Given the description of an element on the screen output the (x, y) to click on. 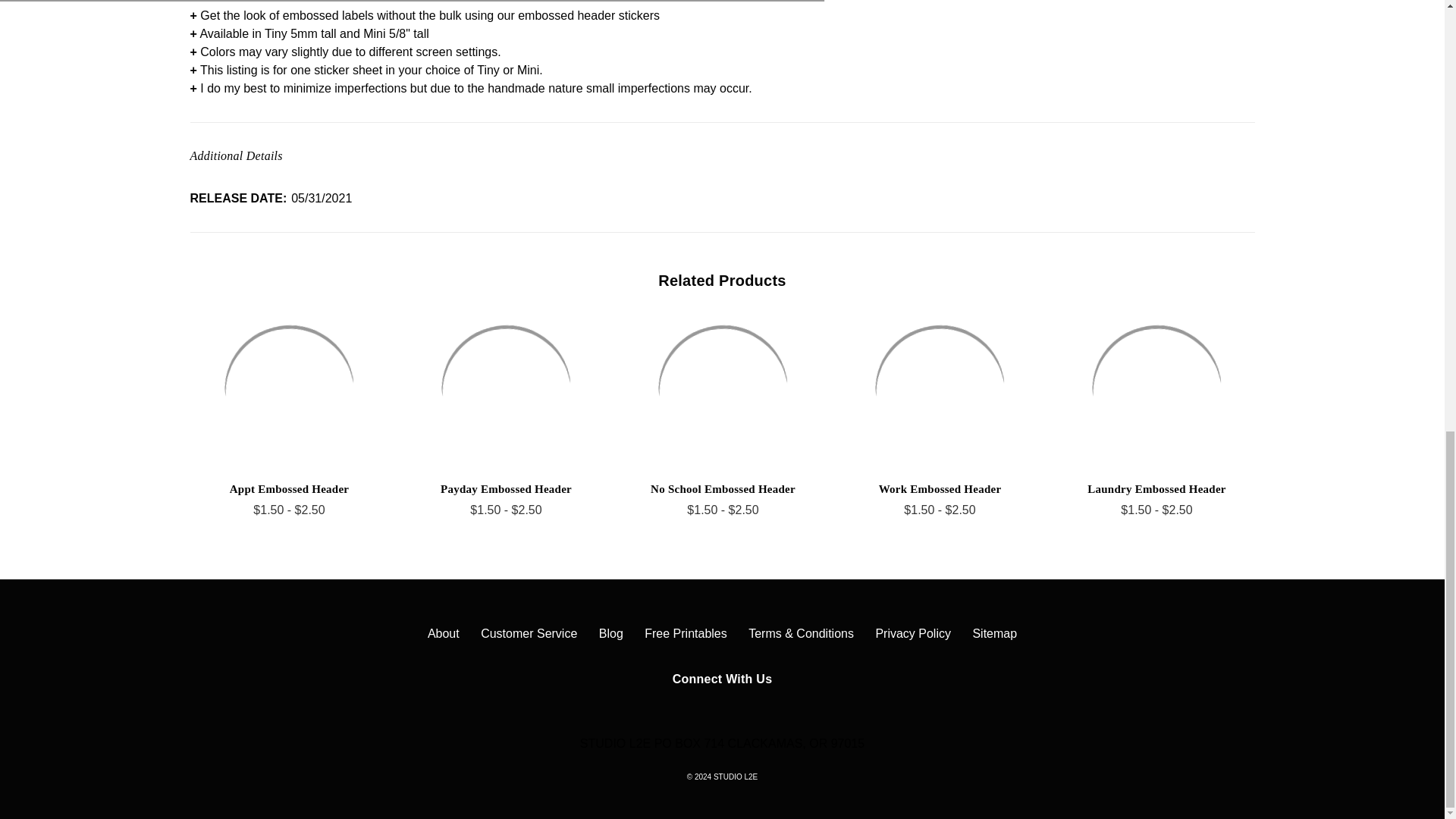
Appointment embossed planner stickers (289, 391)
Payday embossed planner stickers (506, 391)
No School embossed planner stickers (723, 391)
Work Embossed Header (940, 391)
Laundry embossed planner stickers (1157, 391)
